Given the description of an element on the screen output the (x, y) to click on. 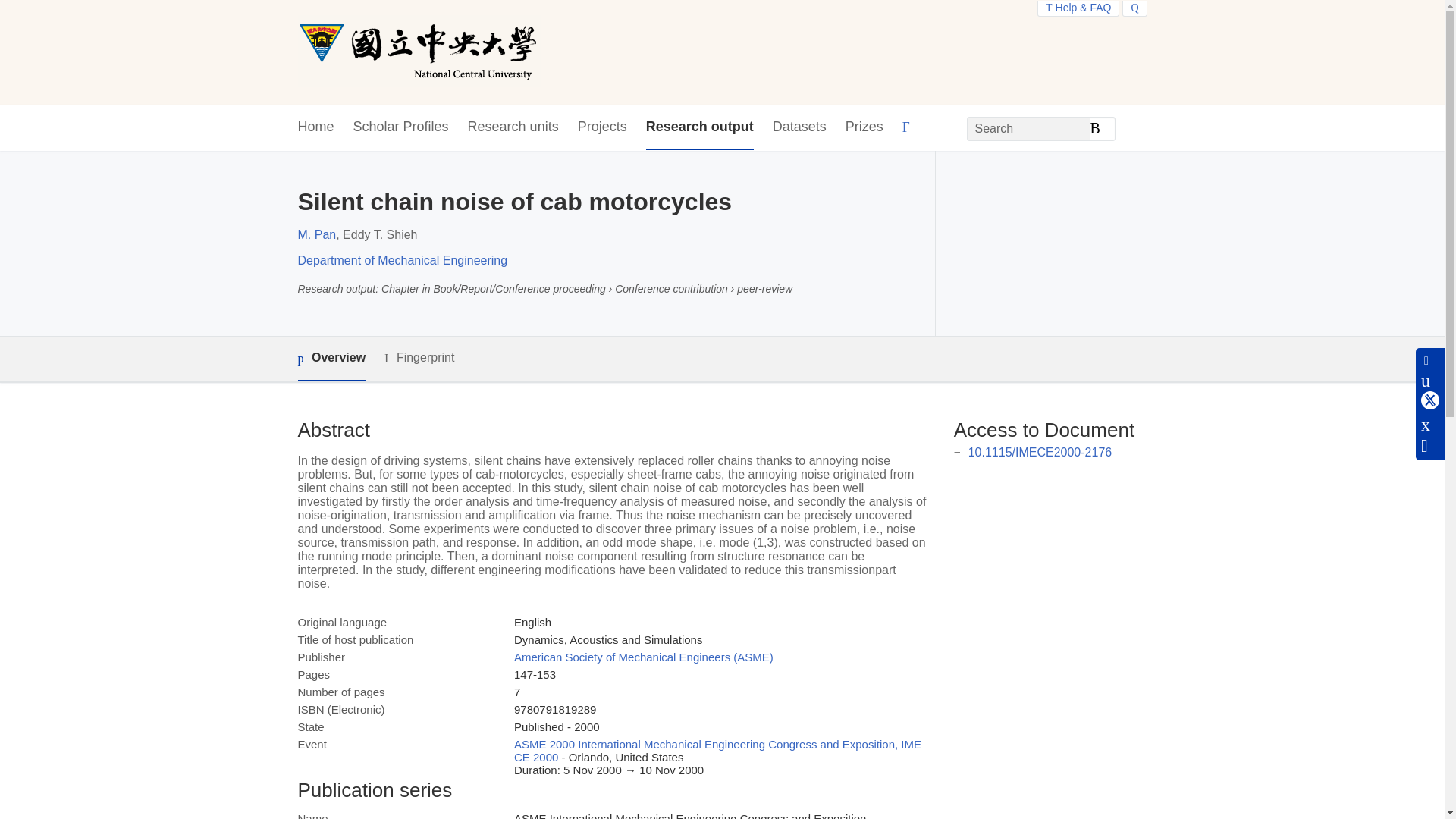
Department of Mechanical Engineering (401, 259)
Projects (602, 127)
Datasets (800, 127)
Research units (513, 127)
Scholar Profiles (400, 127)
Fingerprint (419, 358)
M. Pan (316, 234)
National Central University Home (418, 52)
Research output (700, 127)
